Given the description of an element on the screen output the (x, y) to click on. 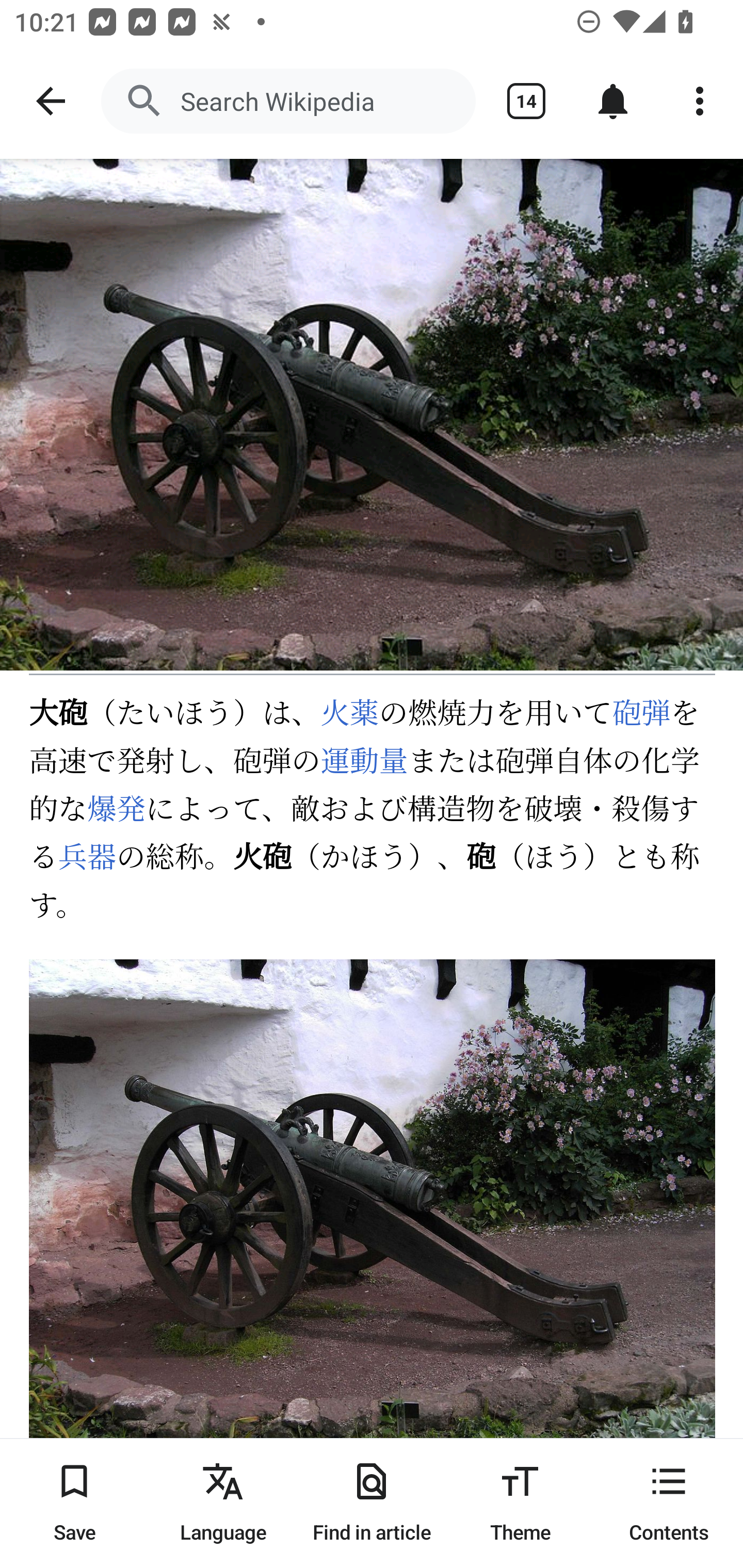
Show tabs 14 (525, 100)
Notifications (612, 100)
Navigate up (50, 101)
More options (699, 101)
Search Wikipedia (288, 100)
Image: 大砲 (371, 414)
火薬 (349, 714)
砲弾 (640, 714)
運動量 (364, 761)
爆発 (116, 809)
兵器 (87, 860)
1280px-Wartburg-17th.century.gun (372, 1215)
Save (74, 1502)
Language (222, 1502)
Find in article (371, 1502)
Theme (519, 1502)
Contents (668, 1502)
